Given the description of an element on the screen output the (x, y) to click on. 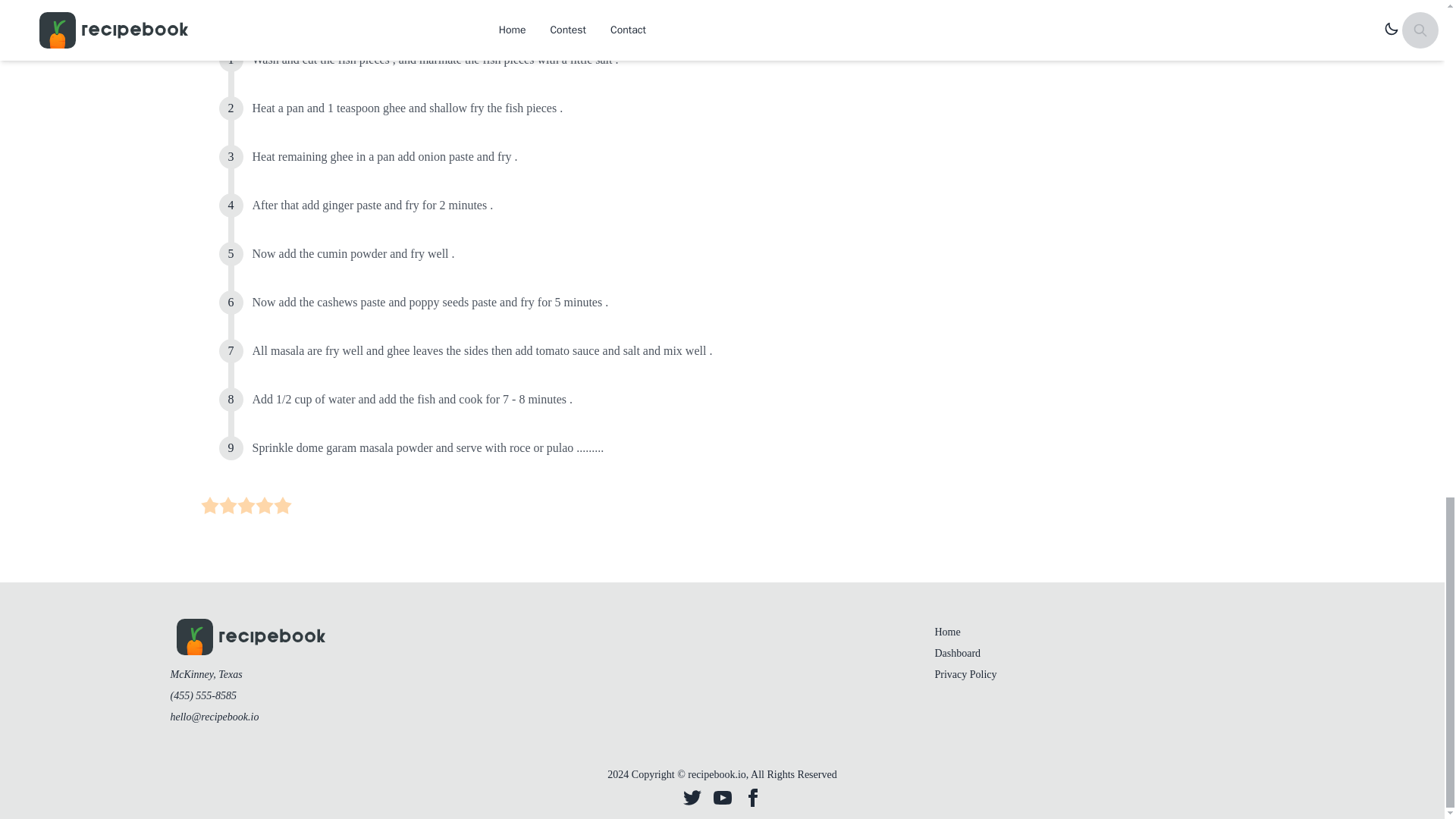
on (244, 505)
on (282, 505)
on (226, 505)
on (209, 505)
on (263, 505)
